Given the description of an element on the screen output the (x, y) to click on. 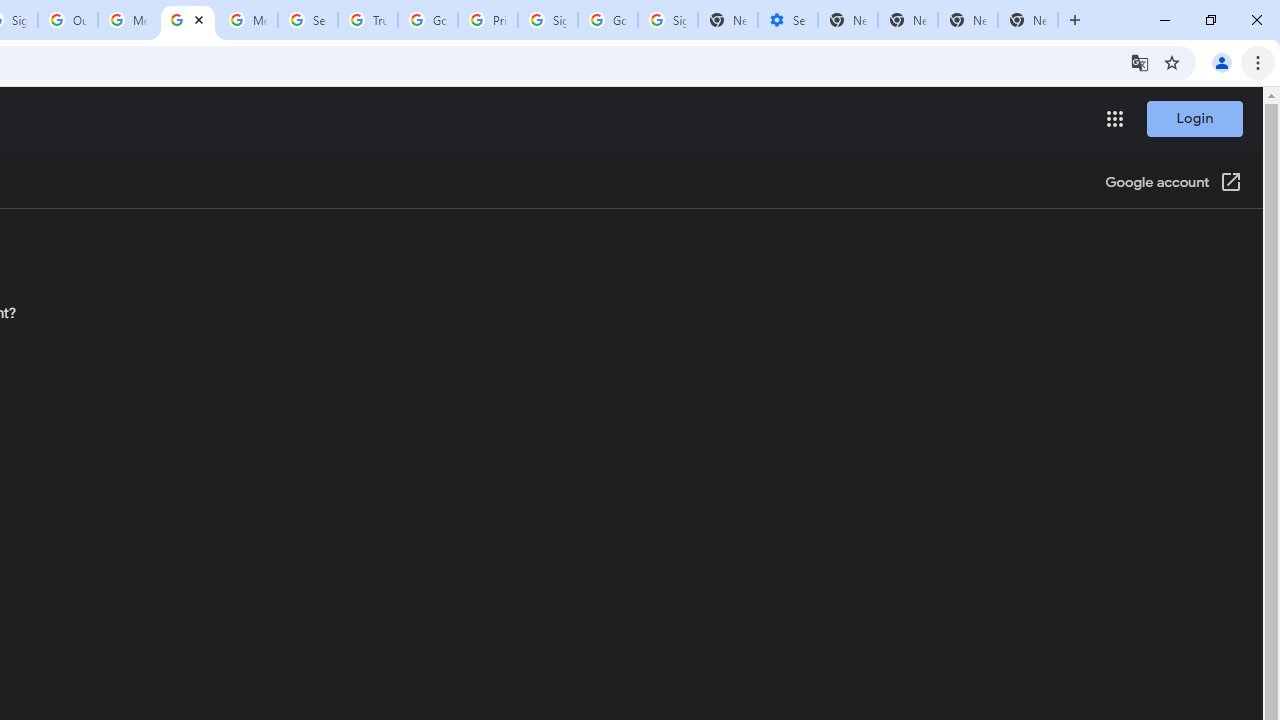
Google Account (Opens in new window) (1173, 183)
Settings - Performance (787, 20)
Google Ads - Sign in (428, 20)
Login (1194, 118)
New Tab (1028, 20)
Search our Doodle Library Collection - Google Doodles (307, 20)
